Given the description of an element on the screen output the (x, y) to click on. 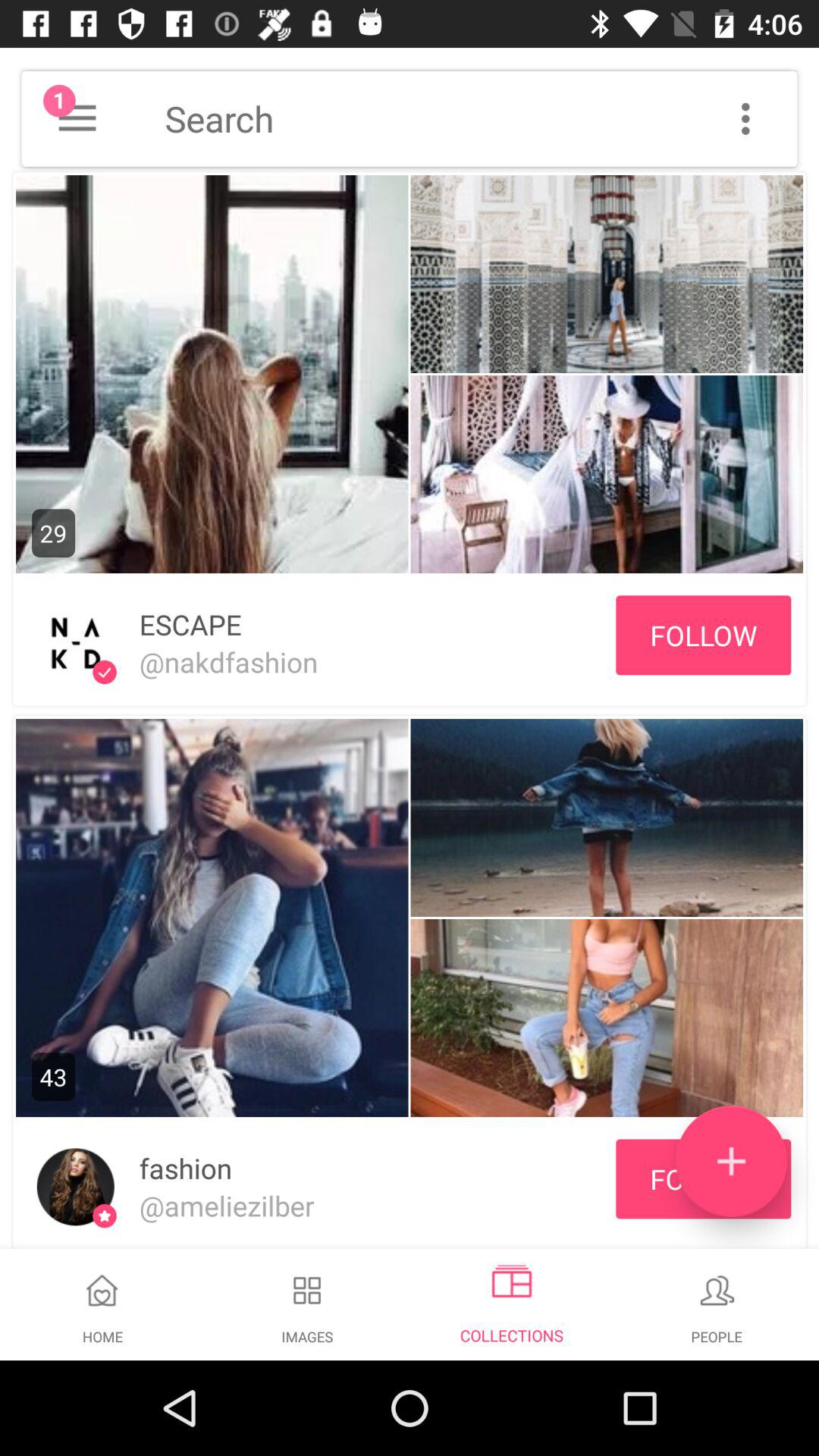
navigation bar showing home images collections and people (409, 1313)
